Given the description of an element on the screen output the (x, y) to click on. 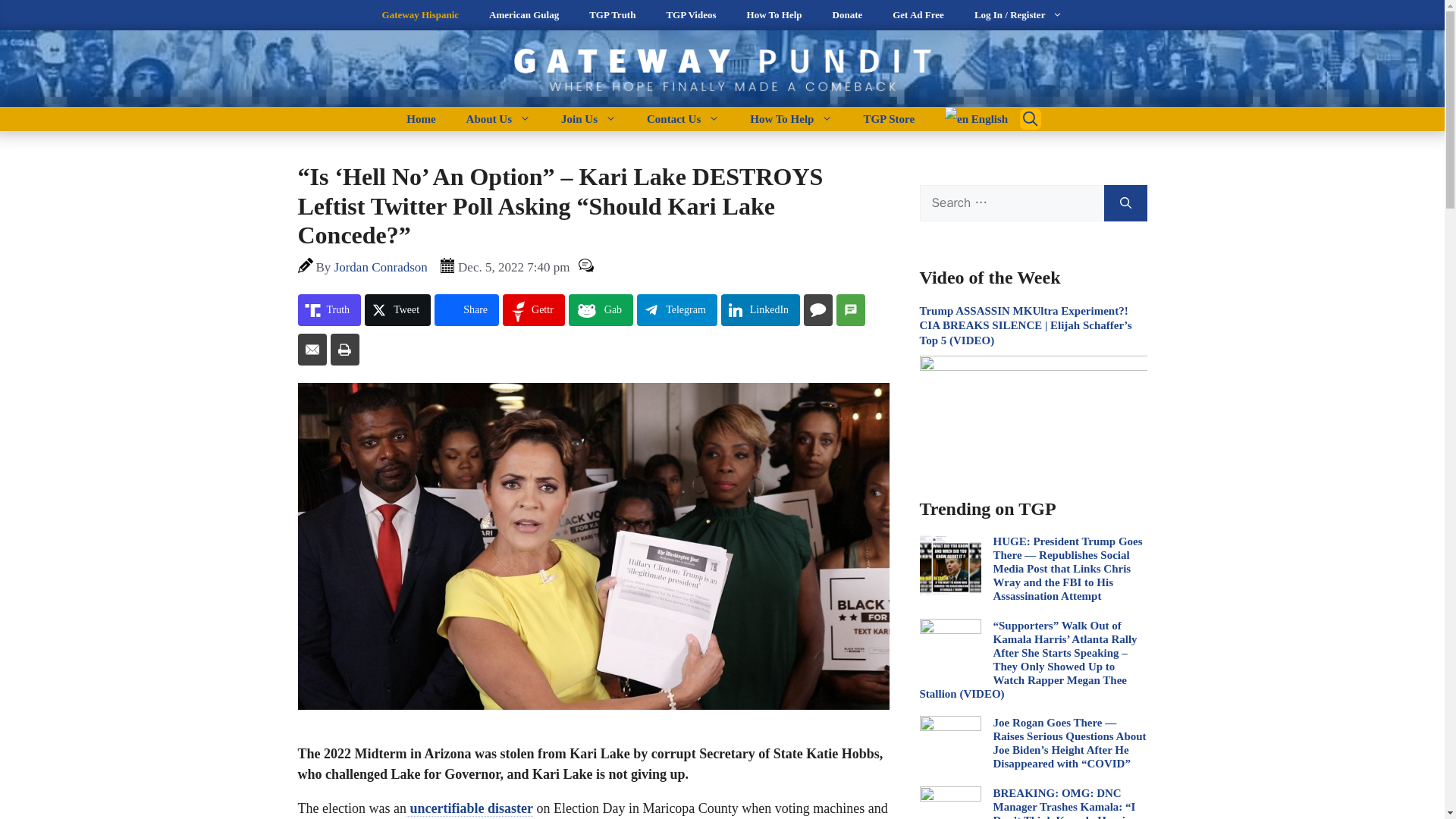
Share on LinkedIn (759, 309)
Gateway Hispanic (420, 15)
Share on Share (466, 309)
Share on Telegram (677, 309)
Get Ad Free (918, 15)
Donate (846, 15)
How To Help (791, 119)
TGP Store (888, 119)
How To Help (774, 15)
Join Us (588, 119)
About Us (498, 119)
Share on Truth (329, 309)
Share on Tweet (397, 309)
